Given the description of an element on the screen output the (x, y) to click on. 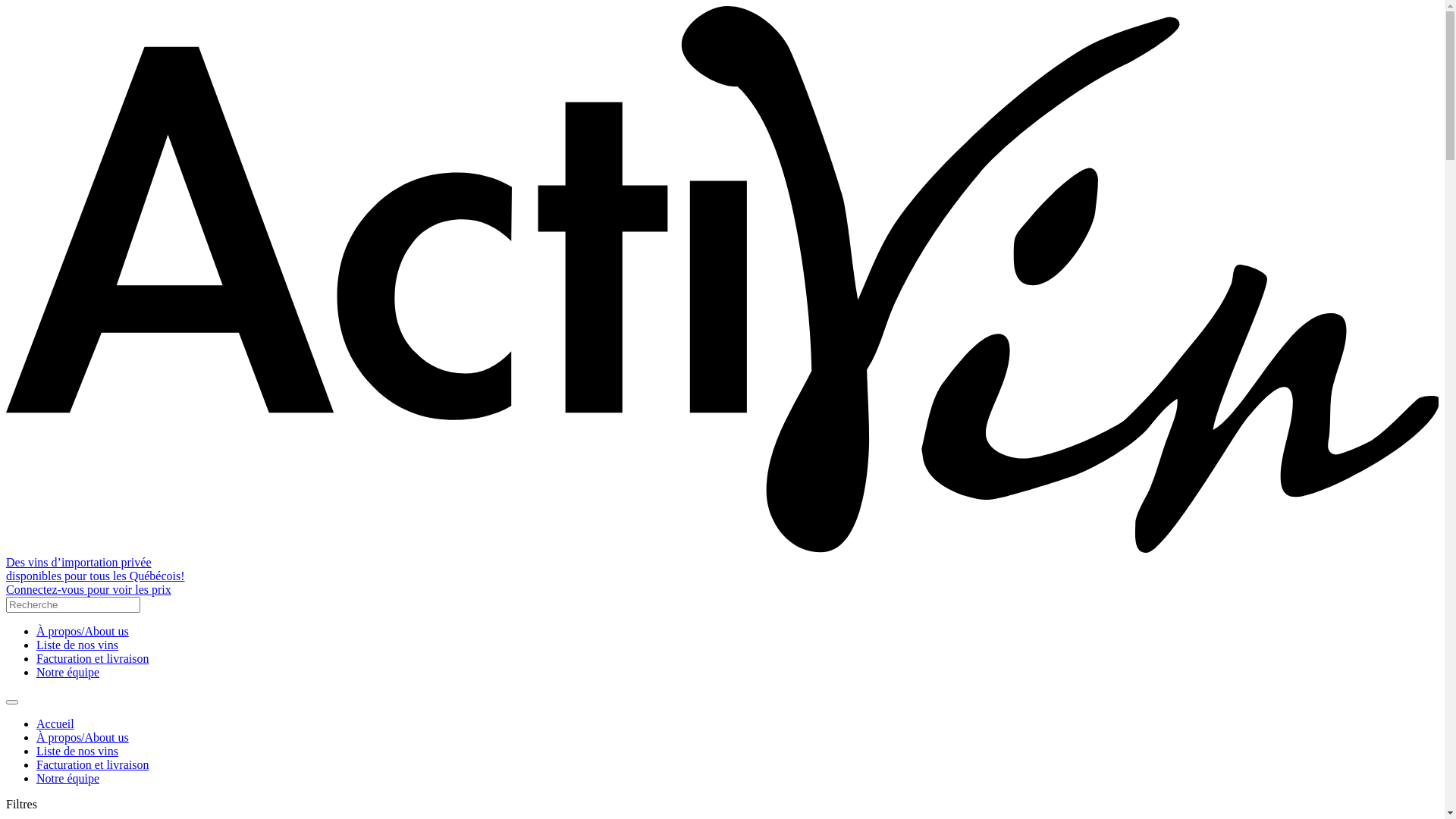
Facturation et livraison Element type: text (92, 658)
Liste de nos vins Element type: text (77, 750)
Facturation et livraison Element type: text (92, 764)
Connectez-vous pour voir les prix Element type: text (88, 589)
Filtres Element type: text (21, 803)
Accueil Element type: text (55, 723)
Liste de nos vins Element type: text (77, 644)
